Given the description of an element on the screen output the (x, y) to click on. 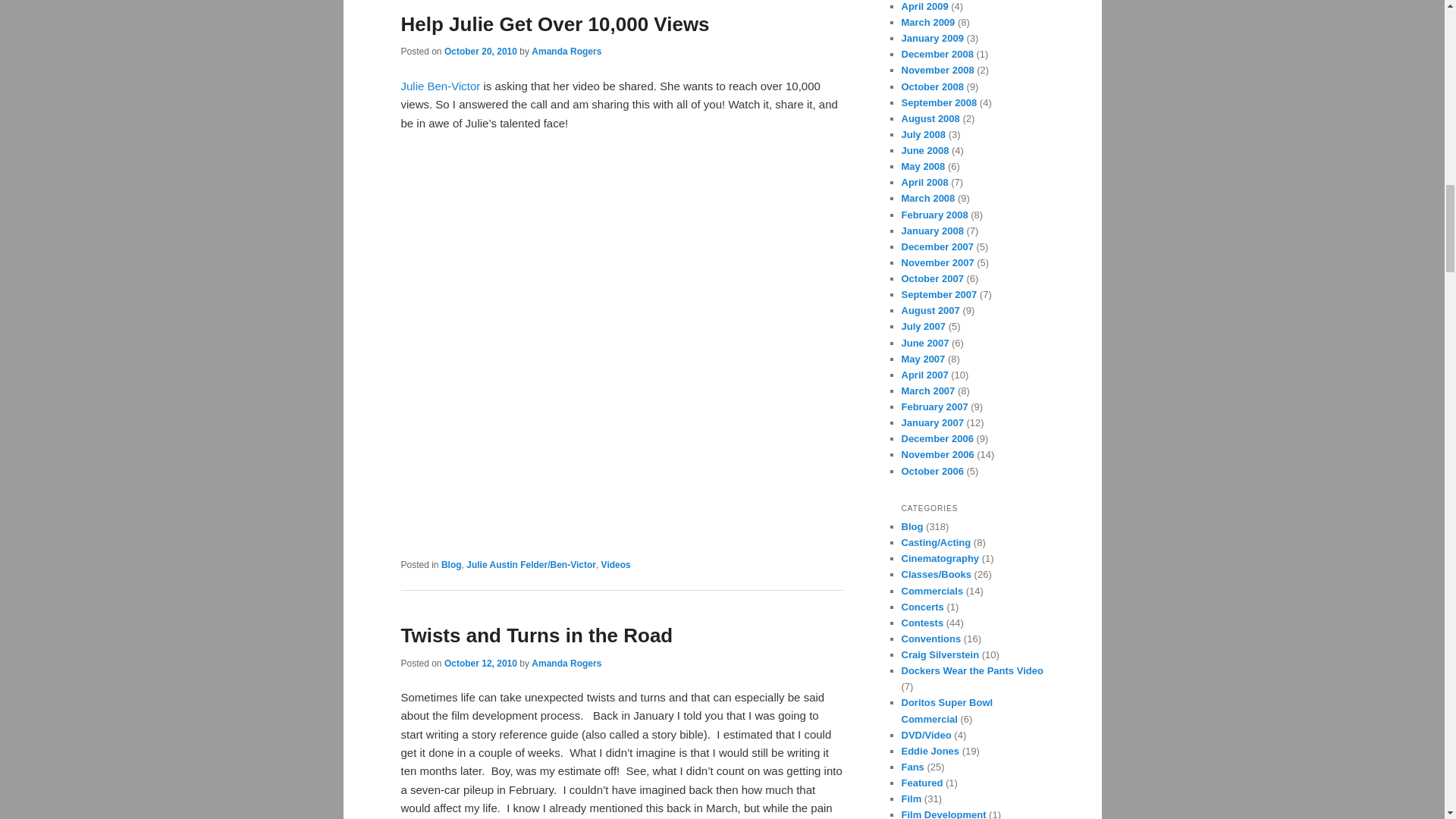
10:14 pm (480, 50)
10:05 pm (480, 663)
View all posts by Amanda Rogers (566, 50)
View all posts by Amanda Rogers (566, 663)
